Given the description of an element on the screen output the (x, y) to click on. 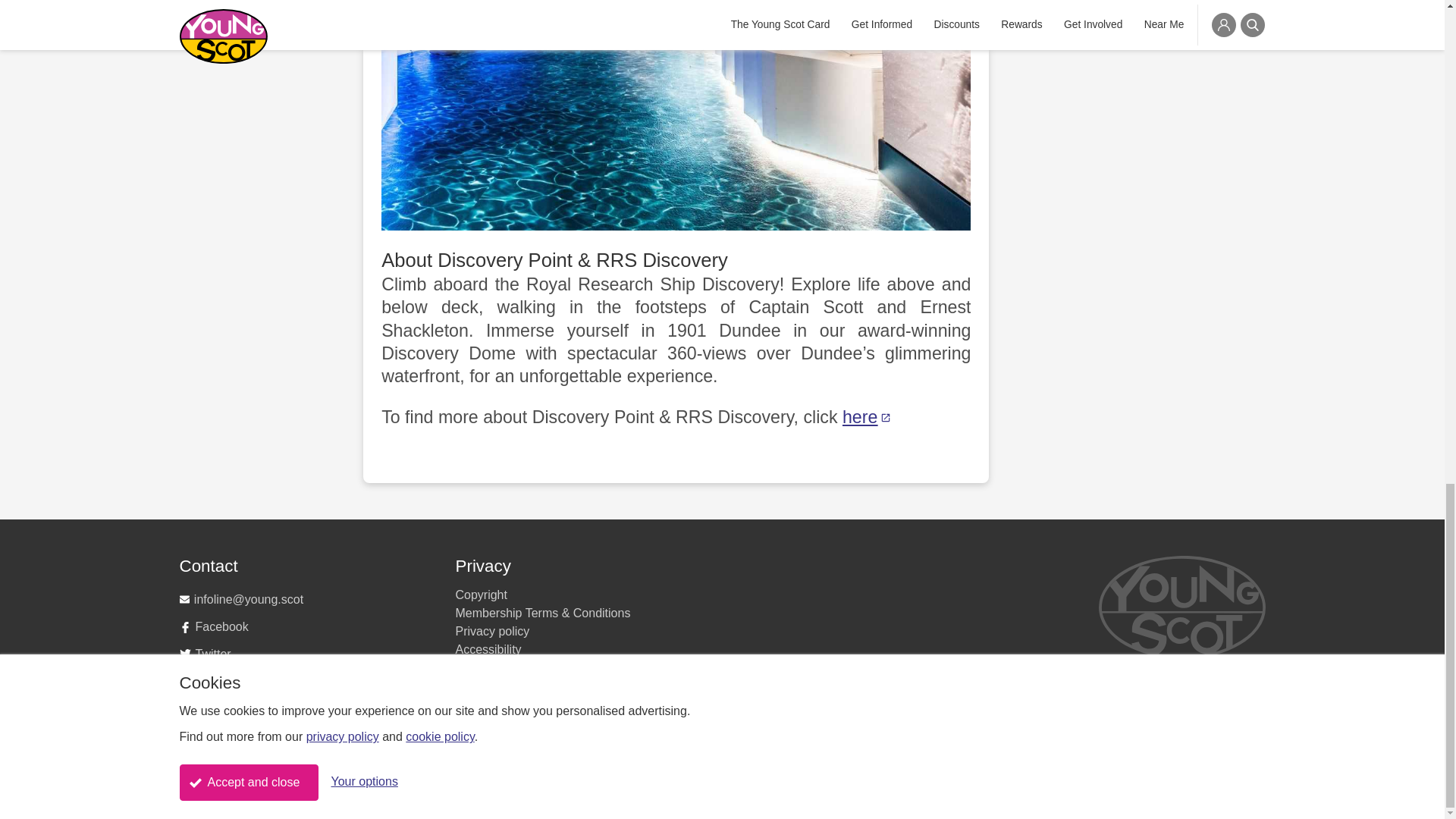
YouTube (307, 708)
here (868, 416)
Instagram (307, 681)
Young Scot corporate site (307, 736)
Twitter (307, 654)
Copyright (480, 594)
Facebook (307, 626)
